Given the description of an element on the screen output the (x, y) to click on. 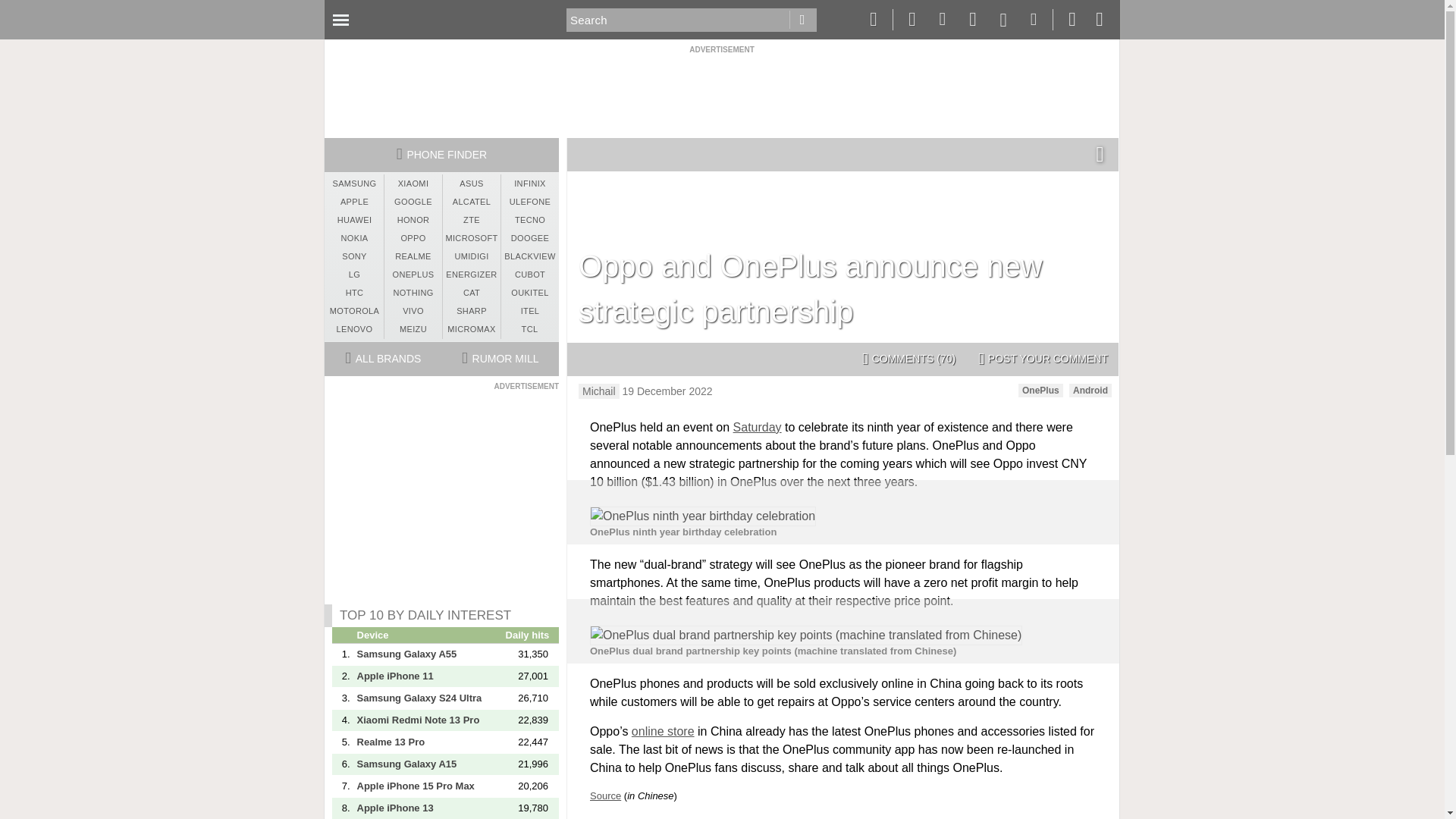
online store (662, 730)
Source (605, 795)
Go (802, 19)
POST YOUR COMMENT (1042, 359)
Saturday (757, 427)
Go (802, 19)
Michail (599, 391)
Android (1090, 390)
OnePlus (1039, 390)
